Given the description of an element on the screen output the (x, y) to click on. 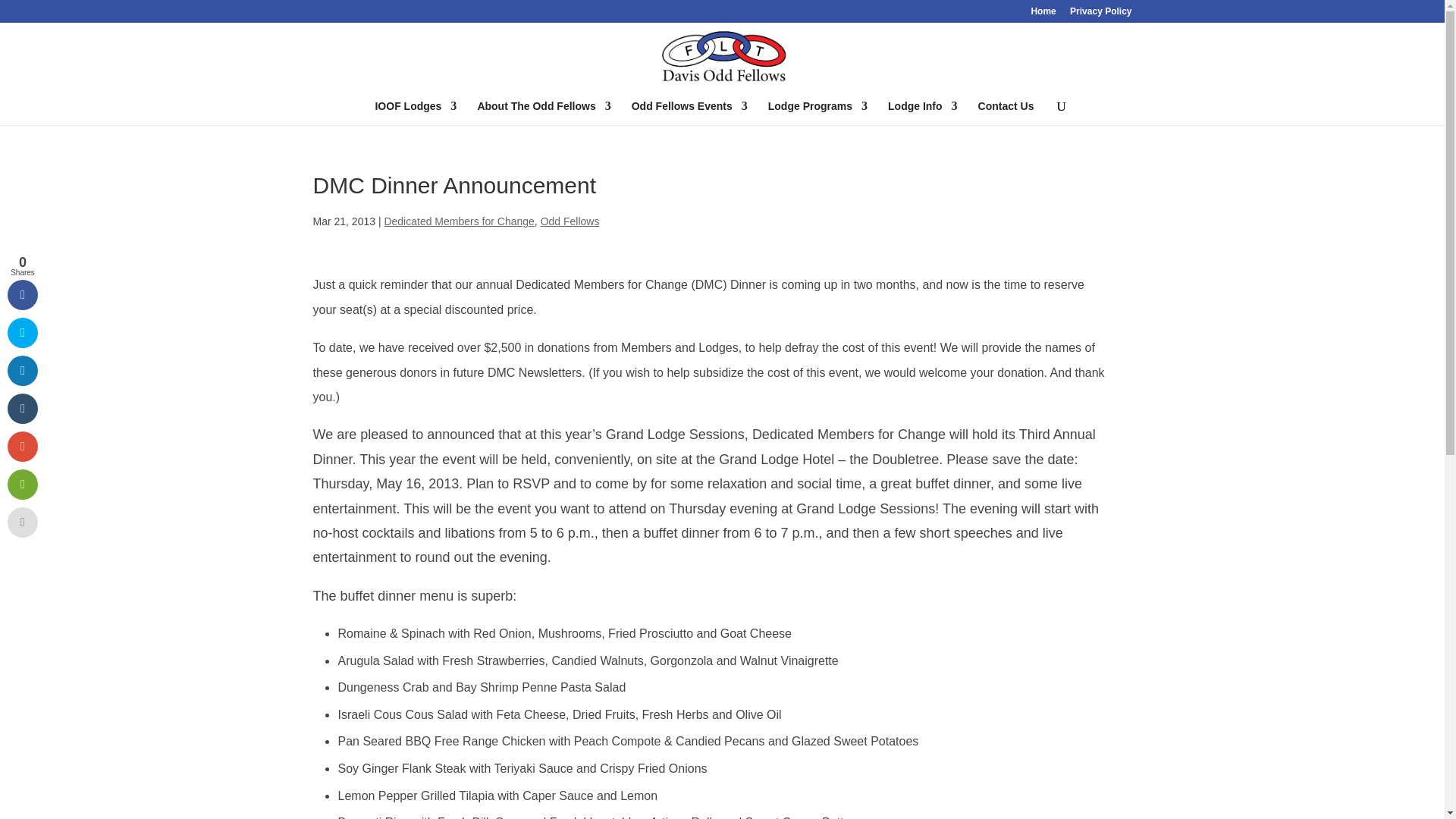
Home (1042, 14)
Lodge Programs (817, 112)
IOOF Lodges (415, 112)
Lodge Info (923, 112)
Information about the Davis Odd Fellows (543, 112)
Davis Lodge Resources (923, 112)
Privacy Policy (1100, 14)
About The Odd Fellows (543, 112)
Odd Fellows Events (689, 112)
Davis Odd Fellows Programs (817, 112)
